Given the description of an element on the screen output the (x, y) to click on. 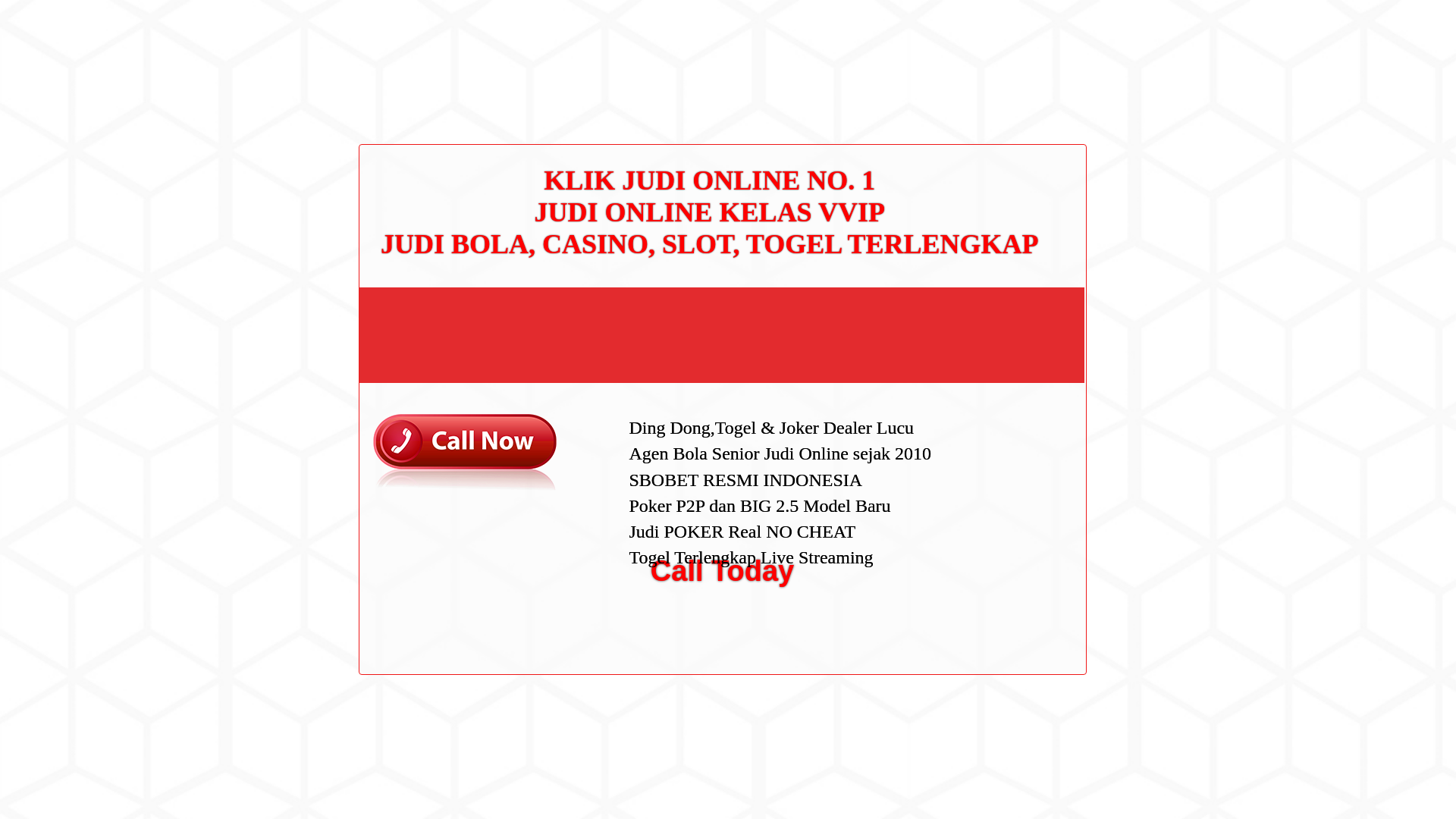
KANONSPORTS.COM (403, 28)
Search (1050, 85)
Blog (976, 510)
Latest Article (996, 172)
Search (1050, 85)
Contact Us (991, 258)
DMCA Policy (996, 282)
RSS (977, 612)
Skip to content (34, 9)
Search for: (1049, 47)
Search (1050, 85)
Privacy Policy (999, 306)
July 2020 (988, 432)
Log in (980, 588)
Terms of Use (996, 330)
